Given the description of an element on the screen output the (x, y) to click on. 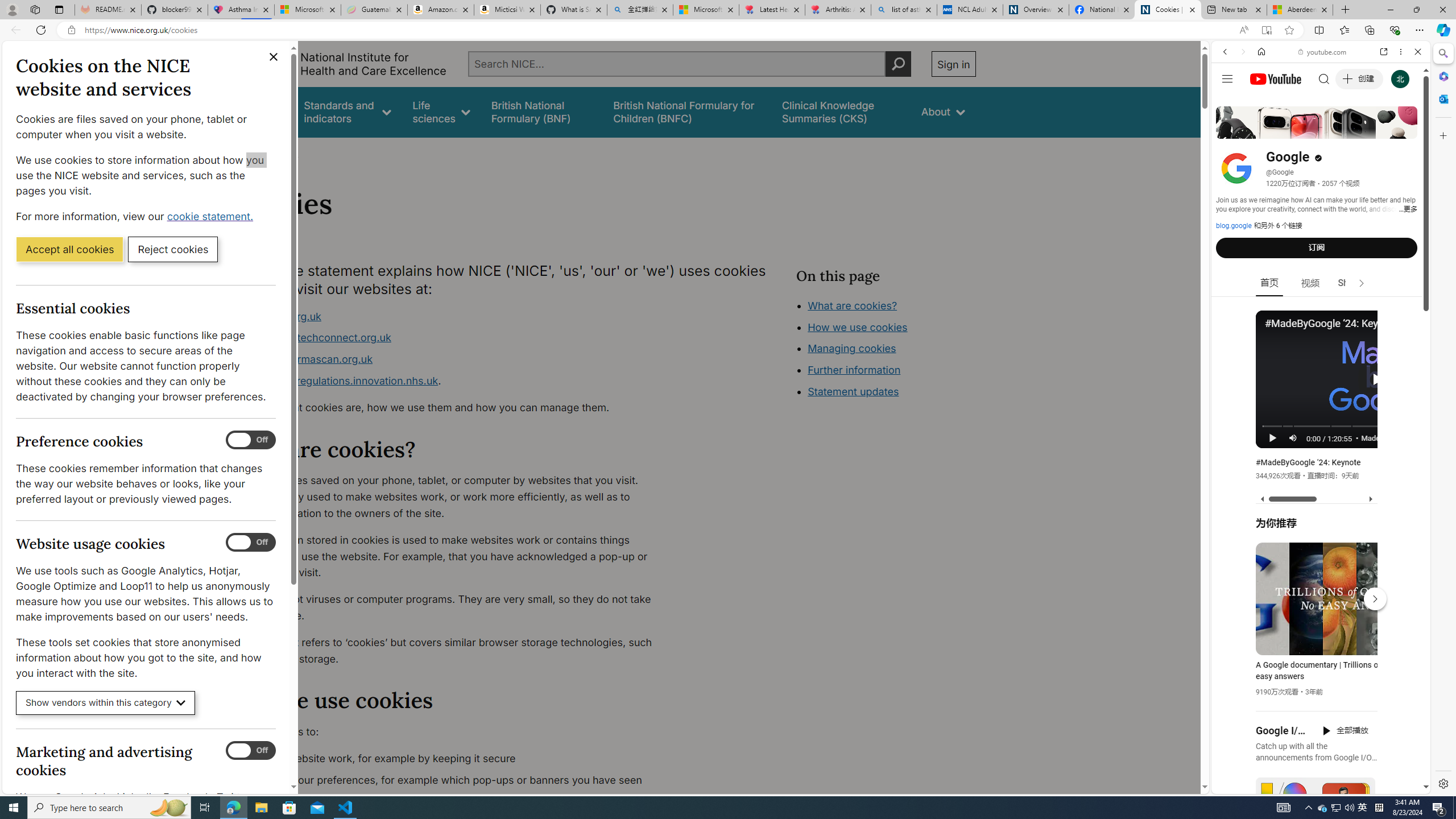
Shorts (1351, 283)
Google (1320, 281)
Search the web (1326, 78)
YouTube - YouTube (1315, 560)
Search Filter, WEB (1230, 129)
Class: in-page-nav__list (884, 349)
Google (1320, 281)
How we use cookies (857, 327)
Show More Music (1390, 310)
